Given the description of an element on the screen output the (x, y) to click on. 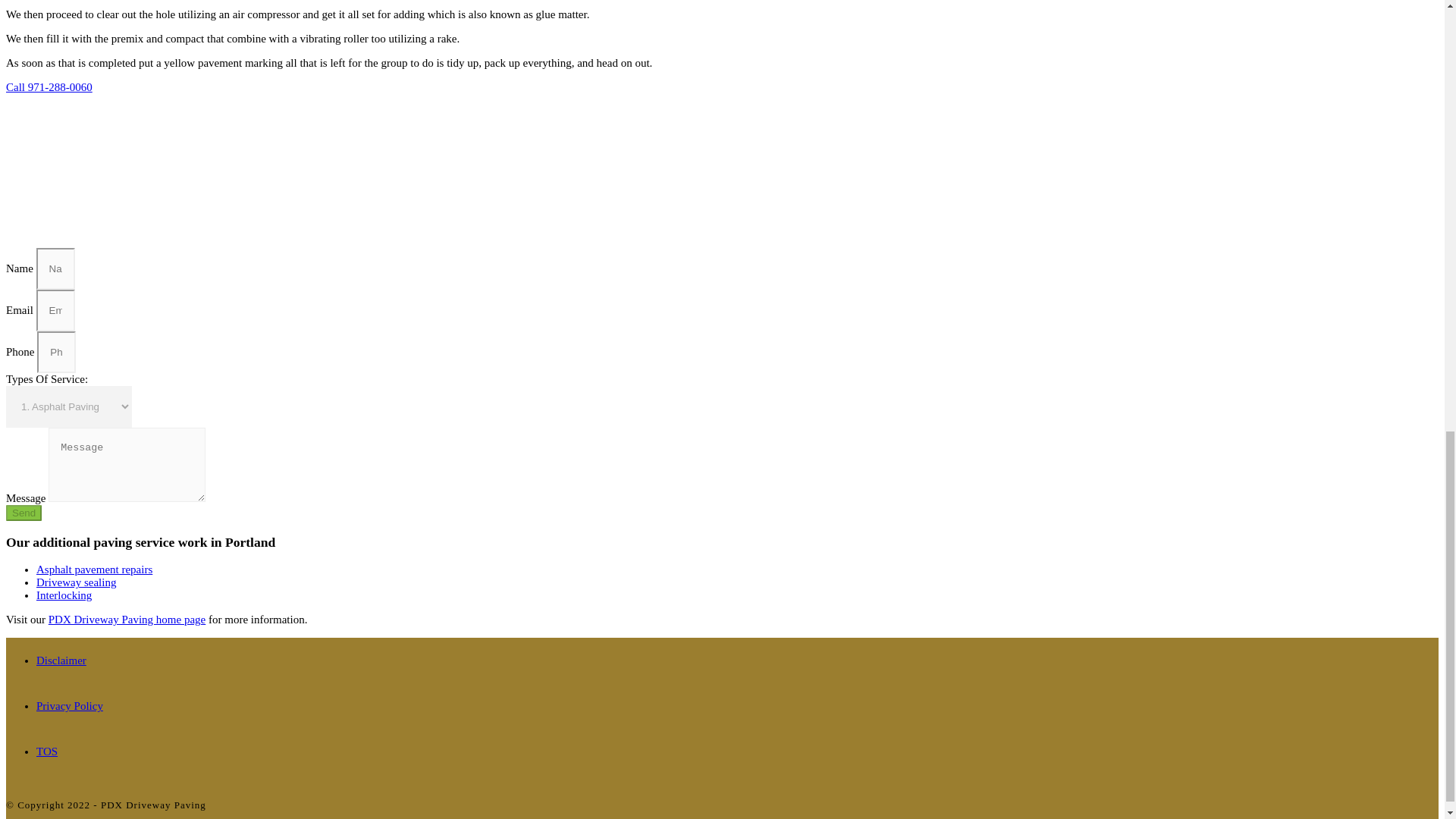
Privacy Policy (69, 705)
Call 971-288-0060 (49, 87)
Asphalt pavement repairs (94, 569)
Interlocking (63, 594)
Driveway sealing (76, 582)
Send (23, 512)
TOS (47, 751)
Disclaimer (60, 660)
PDX Driveway Paving home page (126, 619)
